Given the description of an element on the screen output the (x, y) to click on. 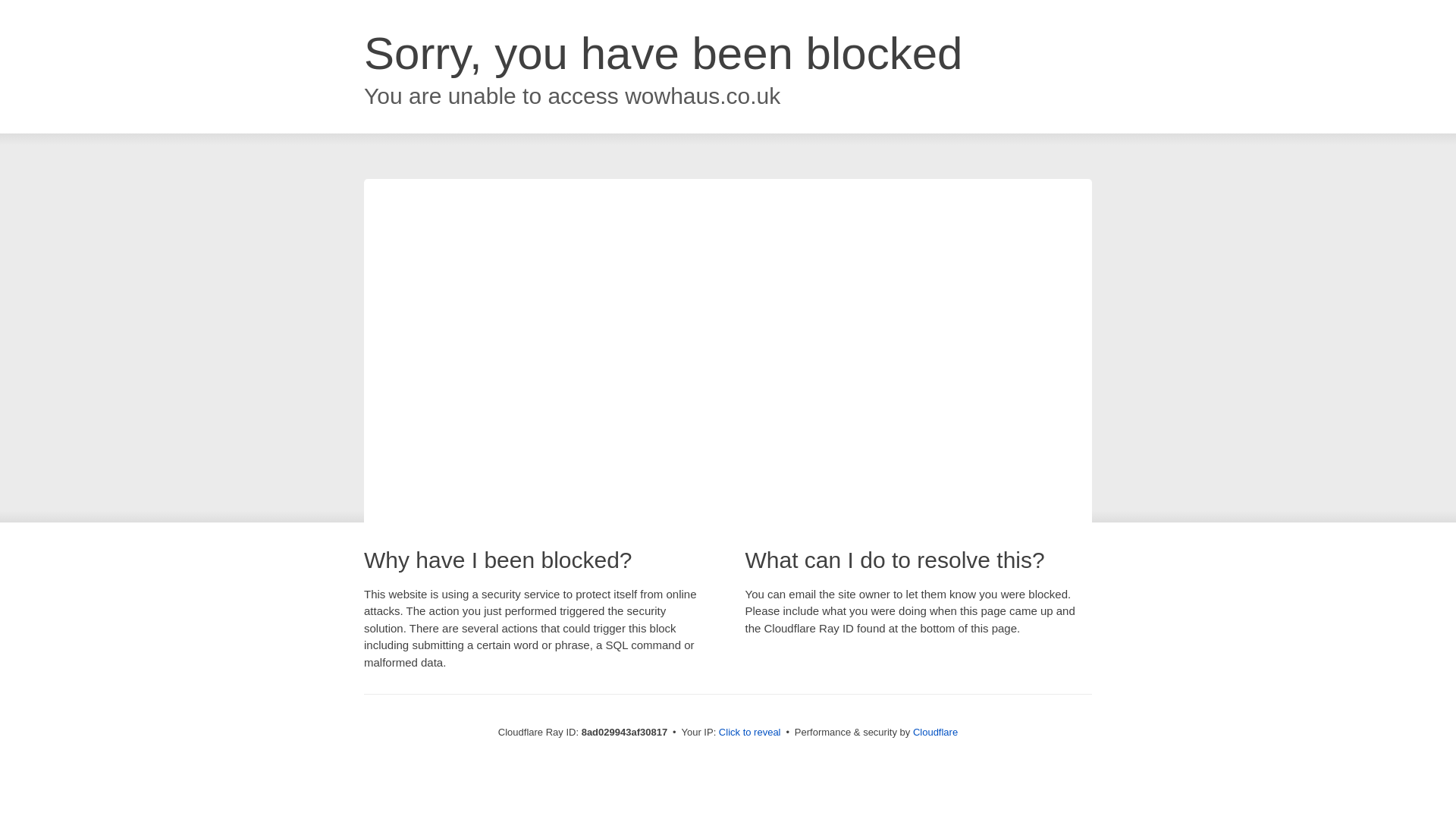
Cloudflare (935, 731)
Click to reveal (749, 732)
